Given the description of an element on the screen output the (x, y) to click on. 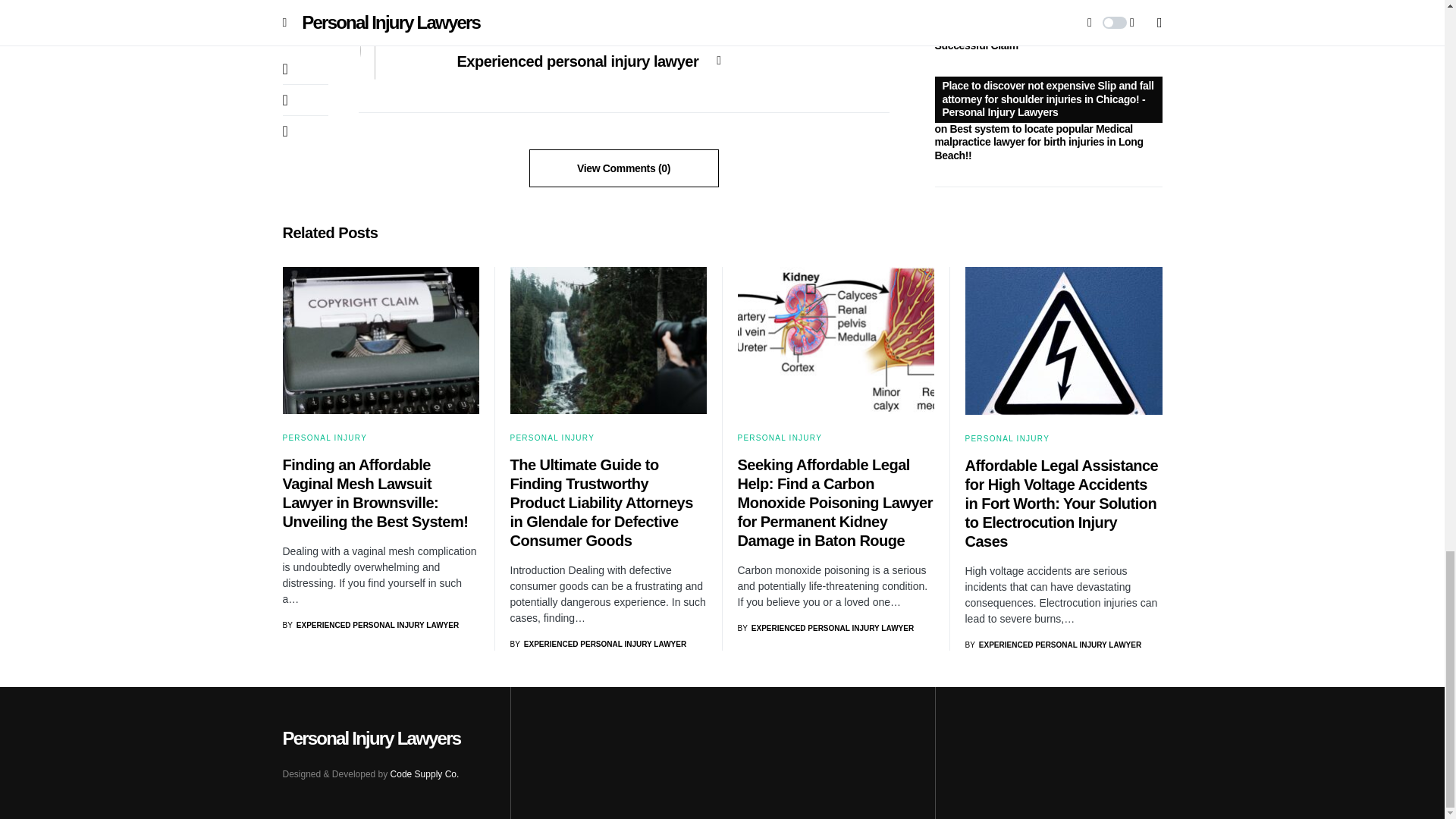
View all posts by Experienced personal injury lawyer (825, 627)
View all posts by Experienced personal injury lawyer (597, 644)
View all posts by Experienced personal injury lawyer (370, 624)
View all posts by Experienced personal injury lawyer (1052, 644)
